Given the description of an element on the screen output the (x, y) to click on. 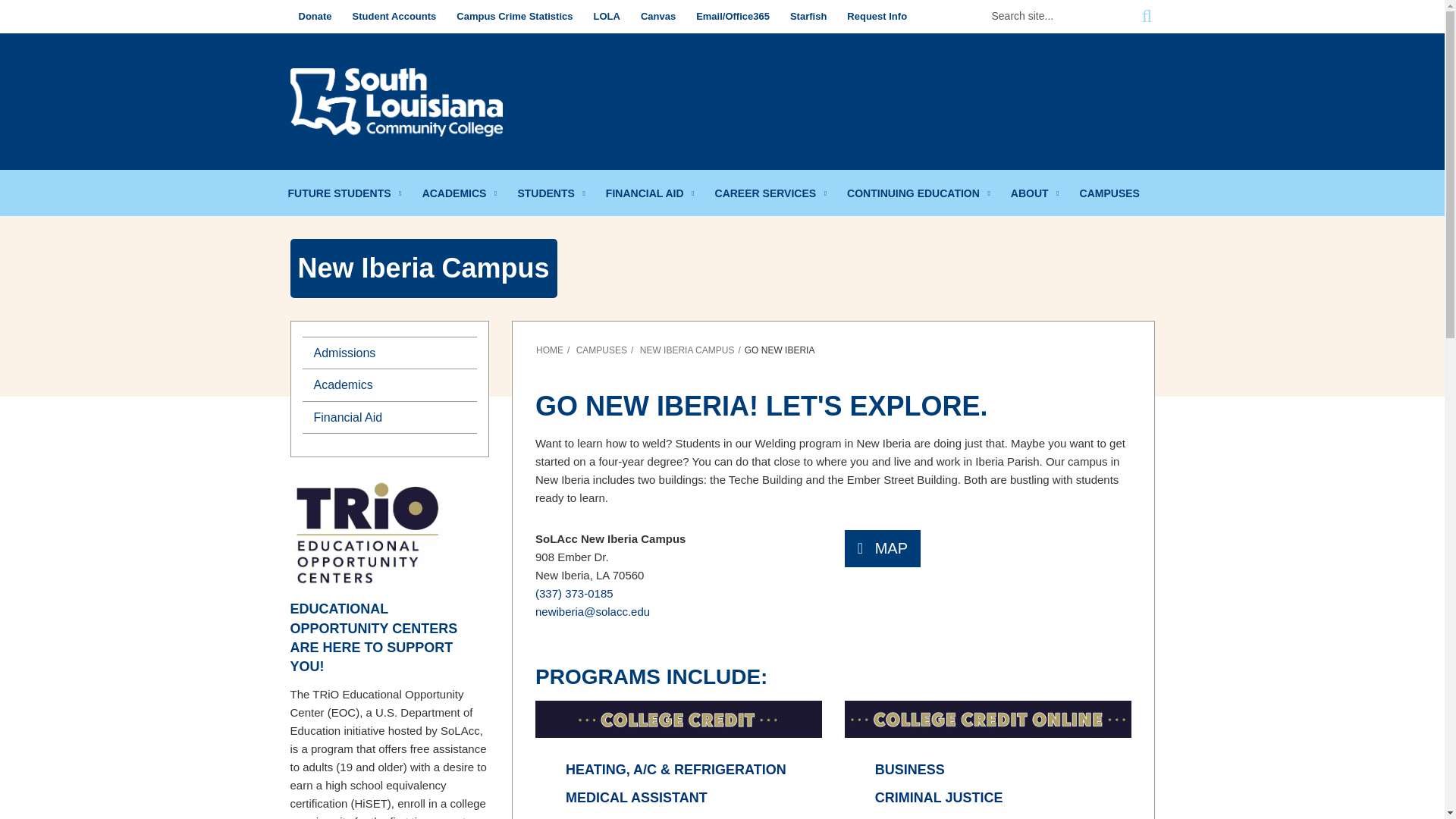
ACADEMICS (460, 193)
FUTURE STUDENTS (346, 193)
LOLA (606, 16)
Request Info (876, 16)
Canvas (657, 16)
Donate (314, 16)
Student Accounts (394, 16)
Campus Crime Statistics (514, 16)
Starfish (807, 16)
